Given the description of an element on the screen output the (x, y) to click on. 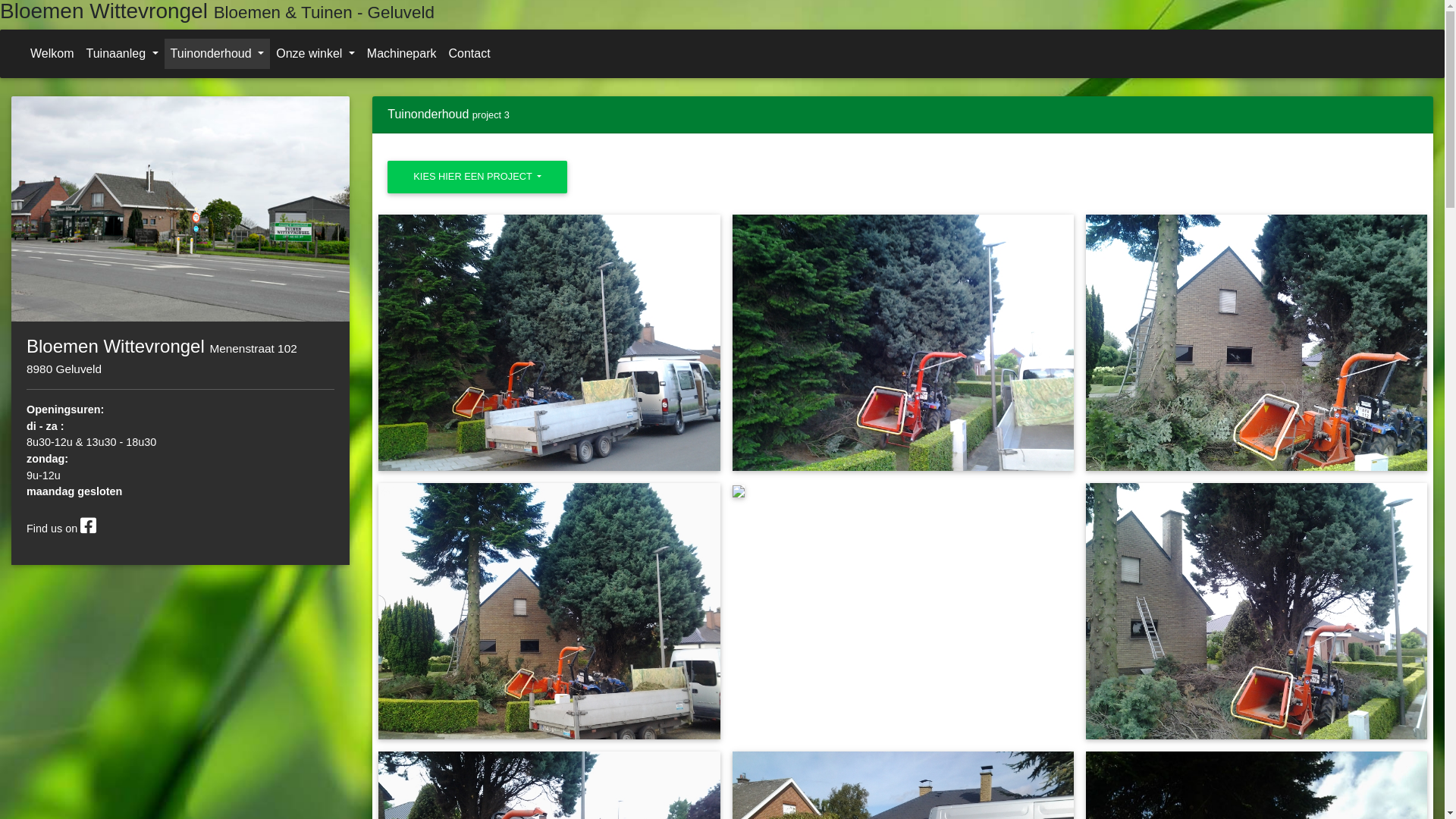
Welkom Element type: text (52, 53)
Tuinonderhoud Element type: text (217, 53)
Contact Element type: text (468, 53)
Onze winkel Element type: text (314, 53)
Tuinaanleg Element type: text (122, 53)
Find us on Element type: text (61, 528)
Machinepark Element type: text (401, 53)
KIES HIER EEN PROJECT Element type: text (477, 176)
